Given the description of an element on the screen output the (x, y) to click on. 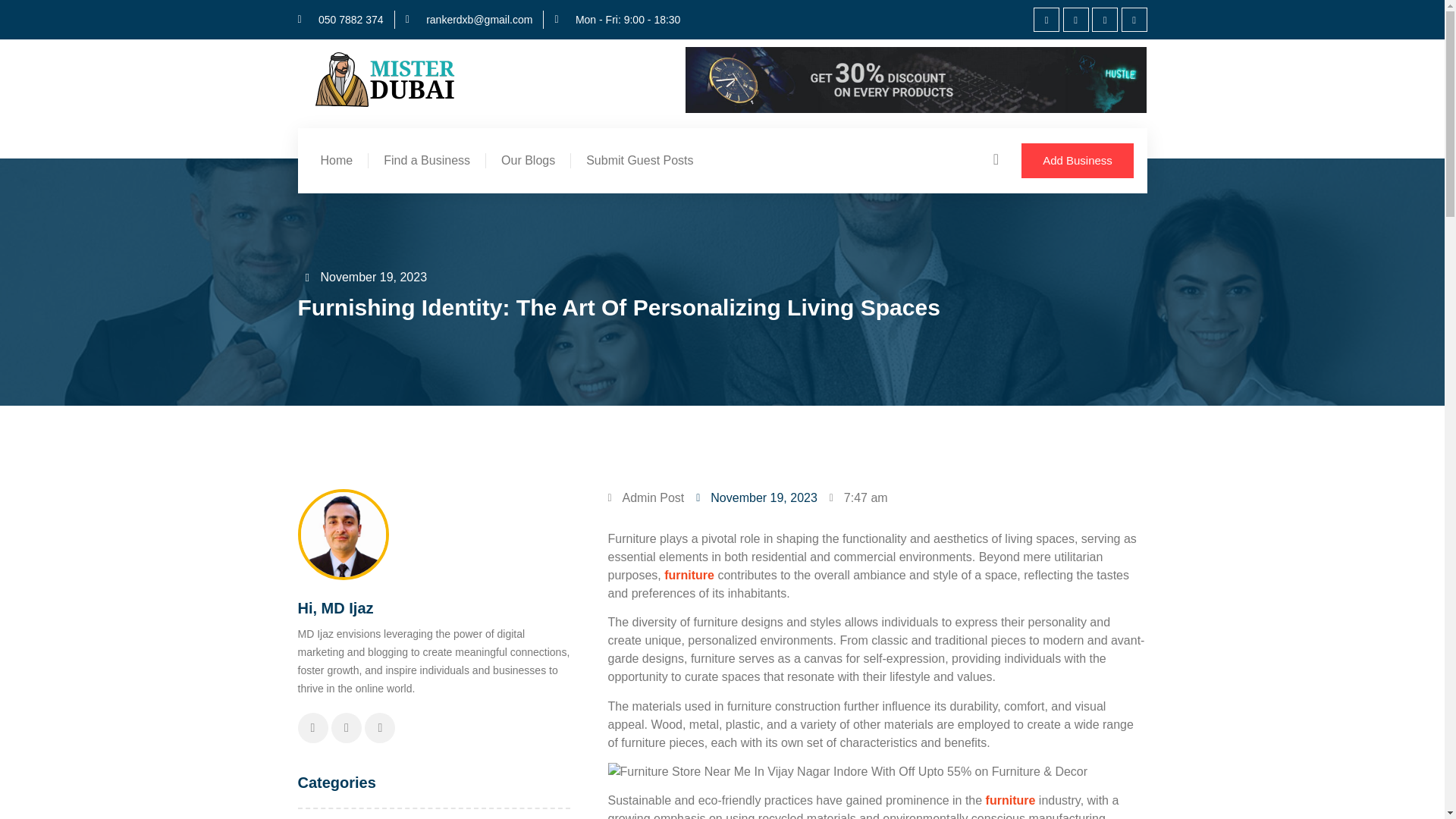
050 7882 374 (339, 19)
Submit Guest Posts (638, 160)
Add Business (1078, 161)
Our Blogs (528, 160)
November 19, 2023 (365, 277)
Home (336, 160)
Find a Business (426, 160)
